Given the description of an element on the screen output the (x, y) to click on. 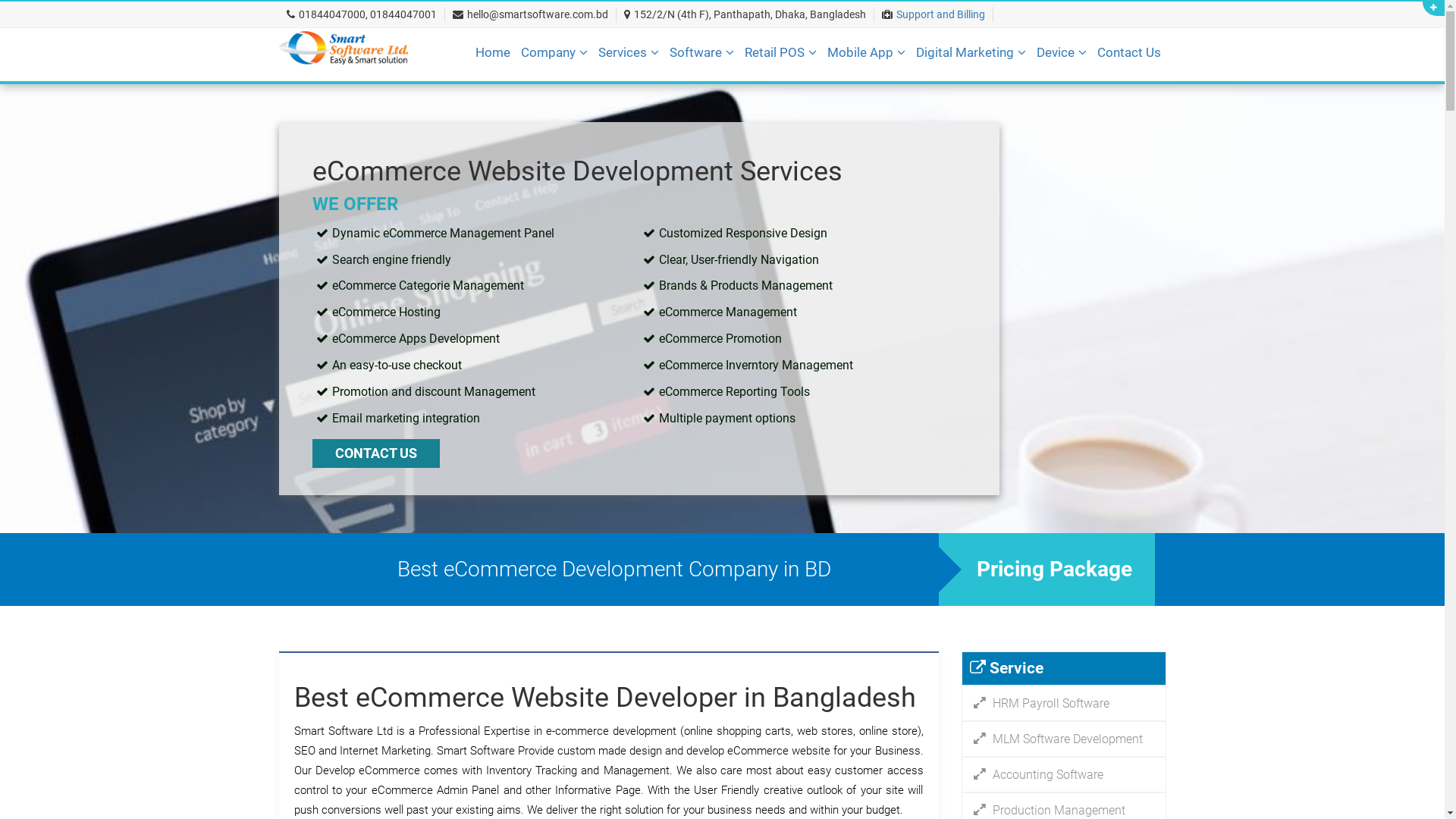
Website Registration Element type: text (724, 92)
Retail POS Software Element type: text (871, 93)
Beauty & Spa Shop Software Element type: text (871, 92)
Website Design and Development Element type: text (724, 93)
Social Media Marketing Element type: text (1043, 92)
Email Marketing Element type: text (1043, 93)
Support and Billing Element type: text (940, 14)
POS Device Element type: text (1162, 92)
Digital Marketing Element type: text (971, 58)
Pricing Package Element type: text (1046, 568)
Company Element type: text (553, 58)
Device Element type: text (1060, 58)
Become An Agent Element type: text (647, 92)
CONTACT US Element type: text (375, 453)
Mobile App Development Element type: text (953, 93)
HRM Payroll Software Element type: text (1063, 703)
About Us Element type: text (647, 93)
Contact Us Element type: text (1128, 58)
Home Element type: text (491, 58)
Document Management System Element type: text (795, 92)
Mobile App Element type: text (865, 58)
Retail POS Element type: text (780, 58)
Software Element type: text (700, 58)
Software Development Service Element type: text (795, 93)
MLM Software Development Element type: text (1063, 738)
Services Element type: text (627, 58)
Biometrics Attendance Element type: text (1162, 93)
Accounting Software Element type: text (1063, 774)
FM Radio Element type: text (953, 92)
